Given the description of an element on the screen output the (x, y) to click on. 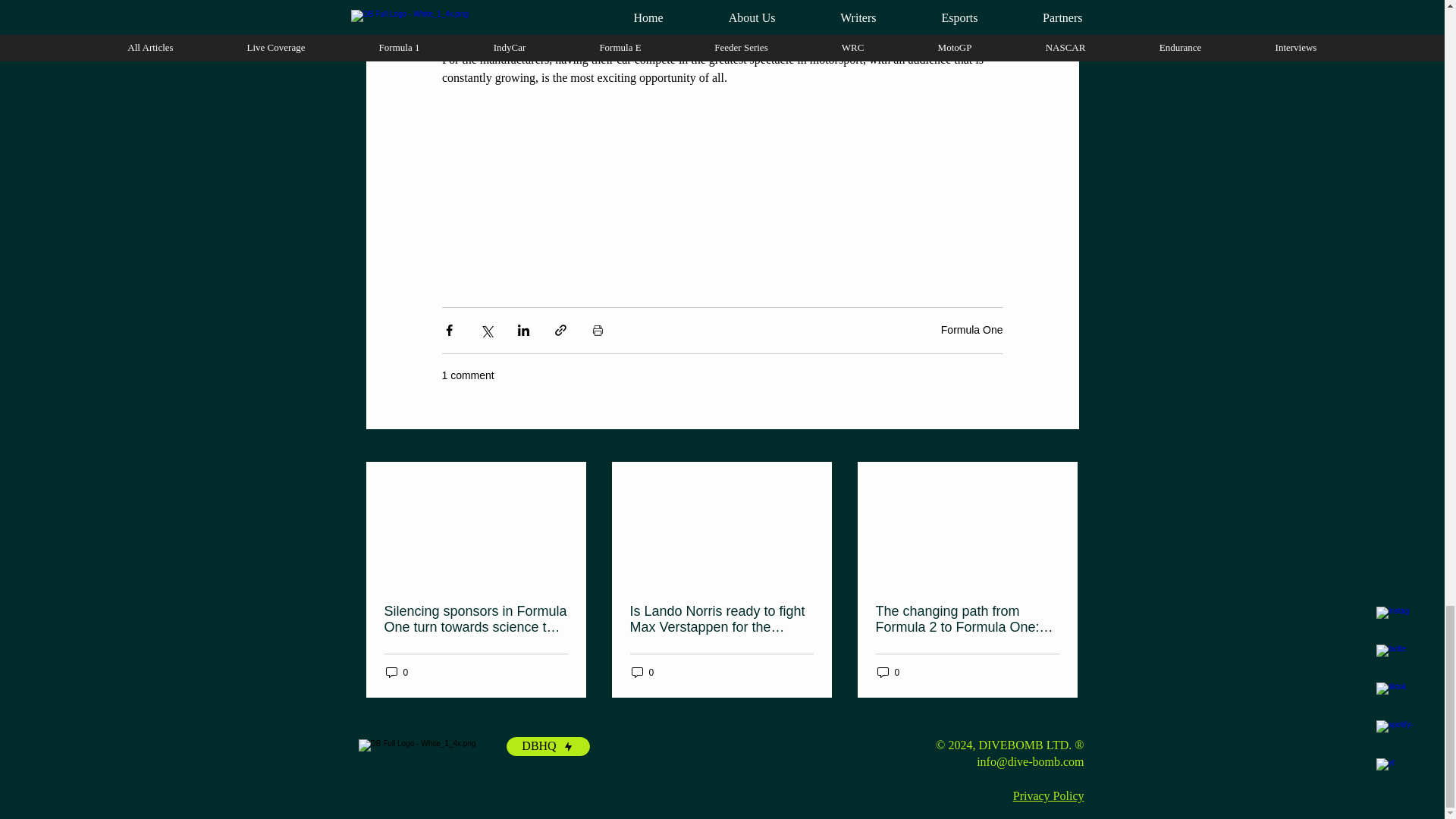
0 (641, 672)
0 (396, 672)
Formula One (971, 329)
